Given the description of an element on the screen output the (x, y) to click on. 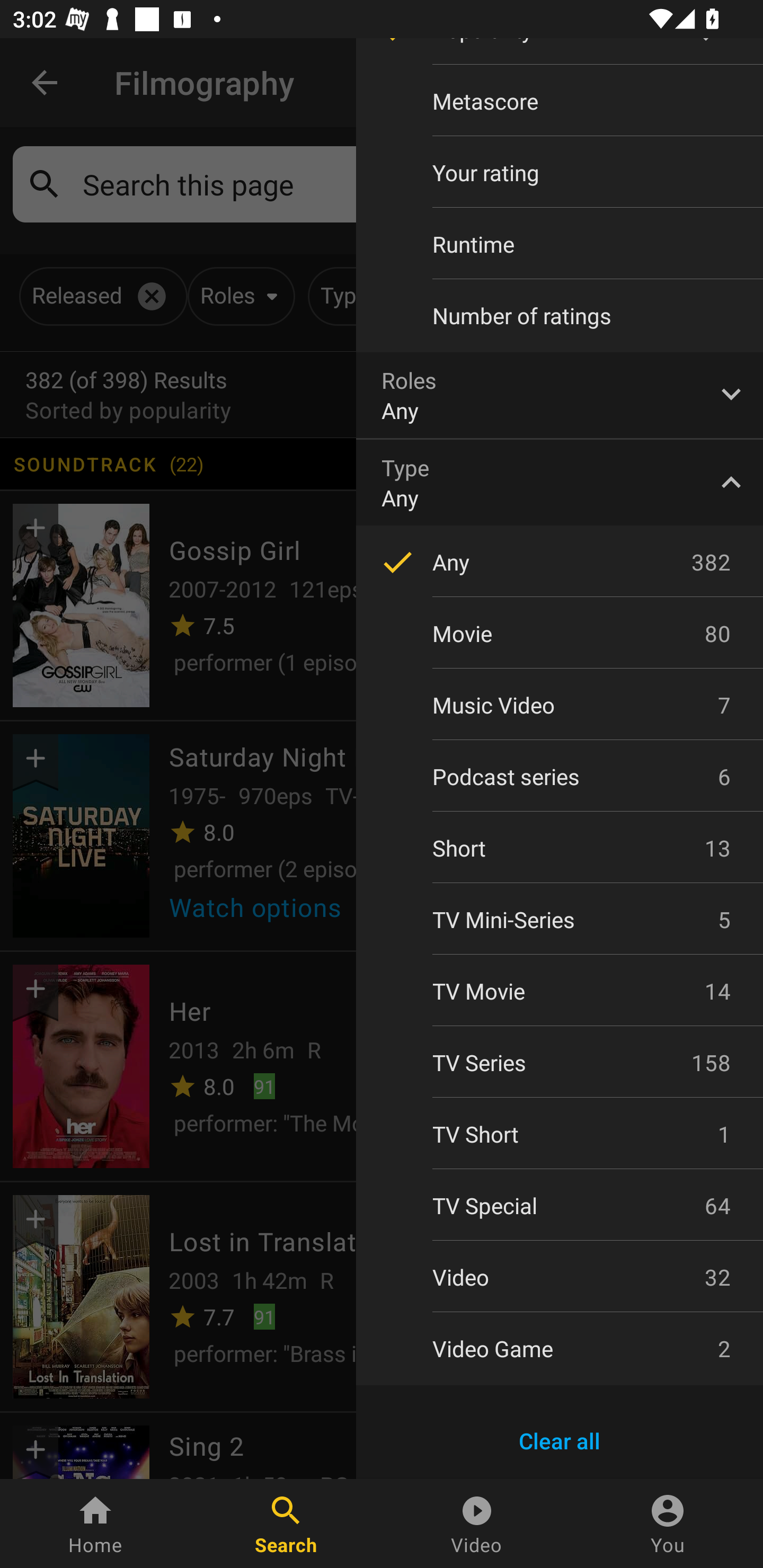
Popularity (559, 50)
Metascore (559, 100)
Your rating (559, 171)
Runtime (559, 243)
Number of ratings (559, 315)
Roles Any (559, 394)
Type Any (559, 482)
Any 382 (559, 561)
Movie 80 (559, 632)
Music Video 7 (559, 704)
Podcast series 6 (559, 776)
Short 13 (559, 847)
TV Mini-Series 5 (559, 919)
TV Movie 14 (559, 990)
TV Series 158 (559, 1062)
TV Short 1 (559, 1134)
TV Special 64 (559, 1205)
Video 32 (559, 1276)
Video Game 2 (559, 1347)
Clear all (559, 1440)
Home (95, 1523)
Video (476, 1523)
You (667, 1523)
